Given the description of an element on the screen output the (x, y) to click on. 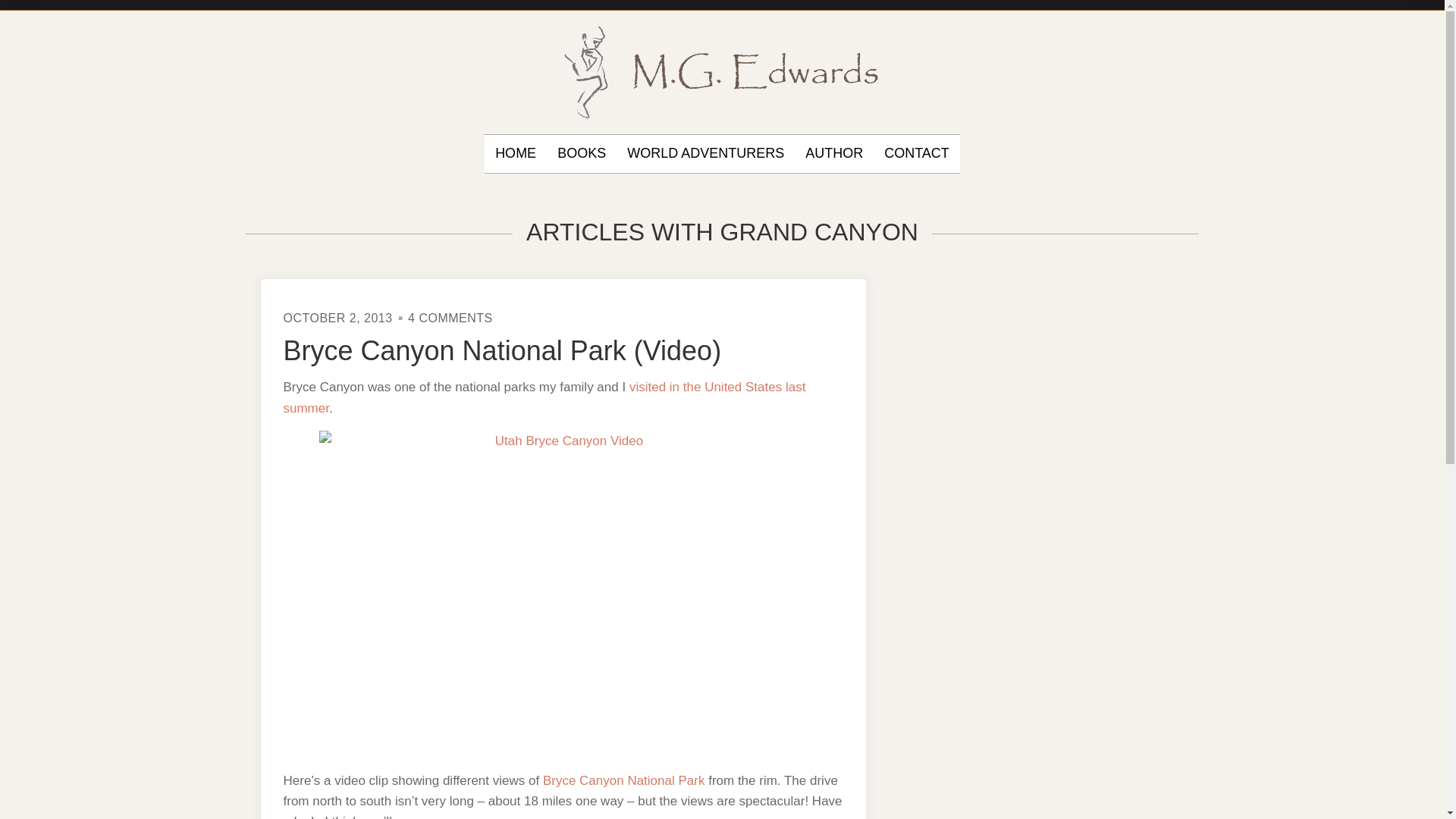
visited in the United States last summer (544, 397)
HOME (515, 153)
AUTHOR (834, 153)
WORLD ADVENTURERS (705, 153)
OCTOBER 2, 2013 (338, 318)
Bryce Canyon National Park (623, 780)
CONTACT (916, 153)
BOOKS (581, 153)
